Given the description of an element on the screen output the (x, y) to click on. 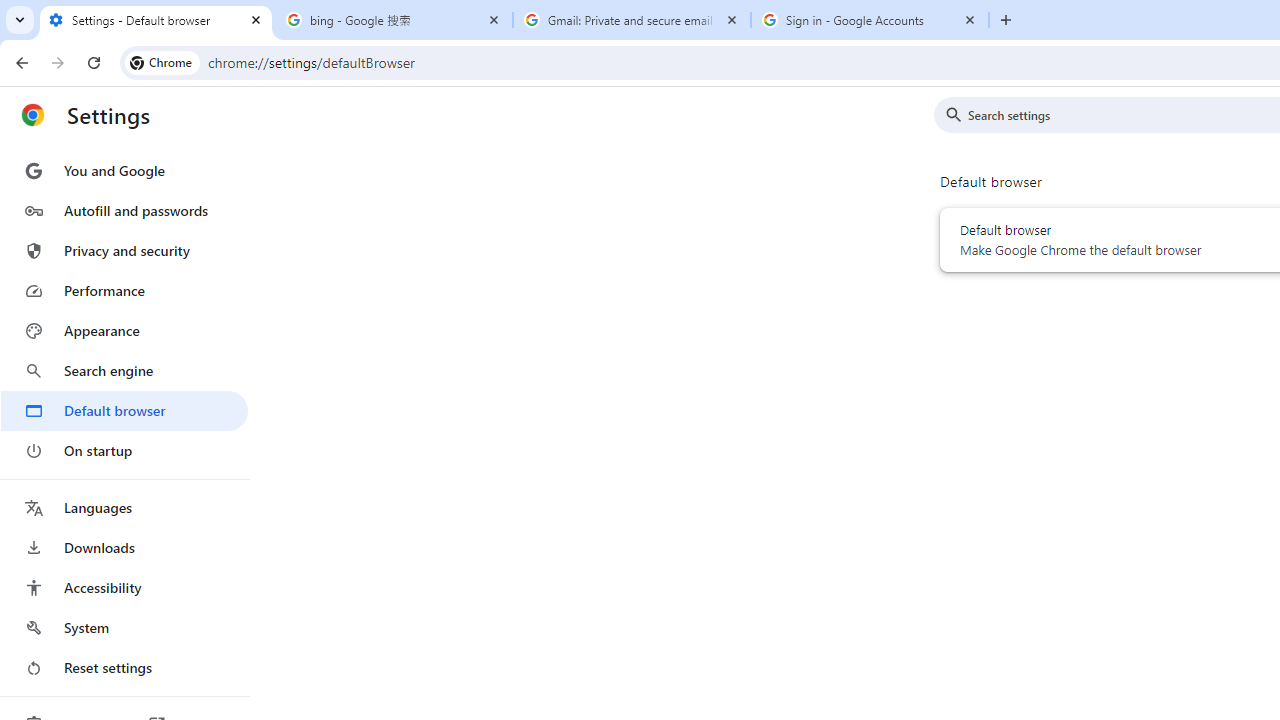
Reset settings (124, 668)
Languages (124, 507)
Downloads (124, 547)
Performance (124, 290)
You and Google (124, 170)
Accessibility (124, 587)
Search engine (124, 370)
Settings - Default browser (156, 20)
